Given the description of an element on the screen output the (x, y) to click on. 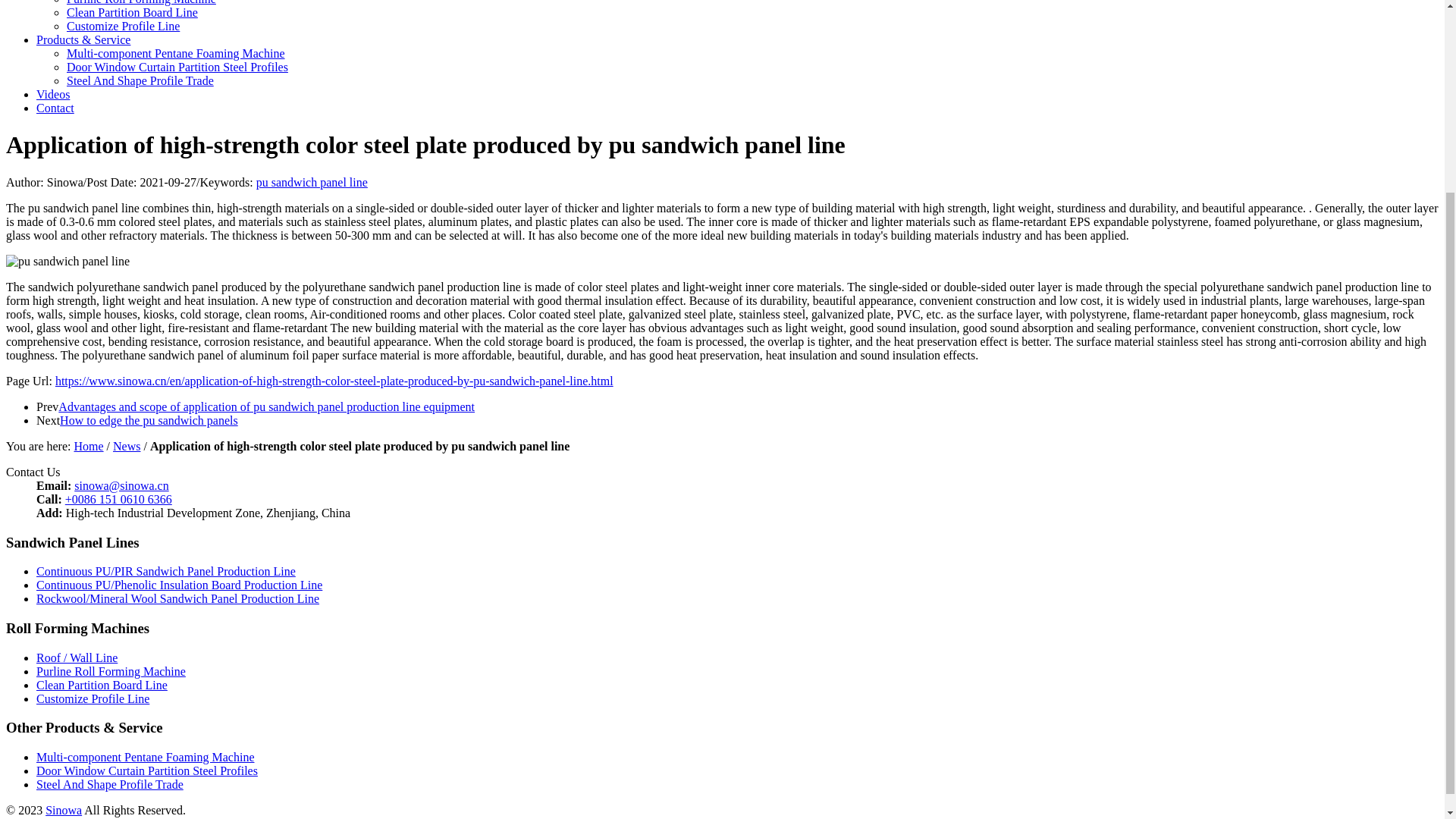
Purline Roll Forming Machine (111, 671)
Sinowa (63, 809)
Home (88, 445)
Customize Profile Line (92, 698)
Steel And Shape Profile Trade (109, 784)
Contact (55, 107)
Multi-component Pentane Foaming Machine (145, 757)
Videos (52, 93)
Steel And Shape Profile Trade (140, 80)
